Given the description of an element on the screen output the (x, y) to click on. 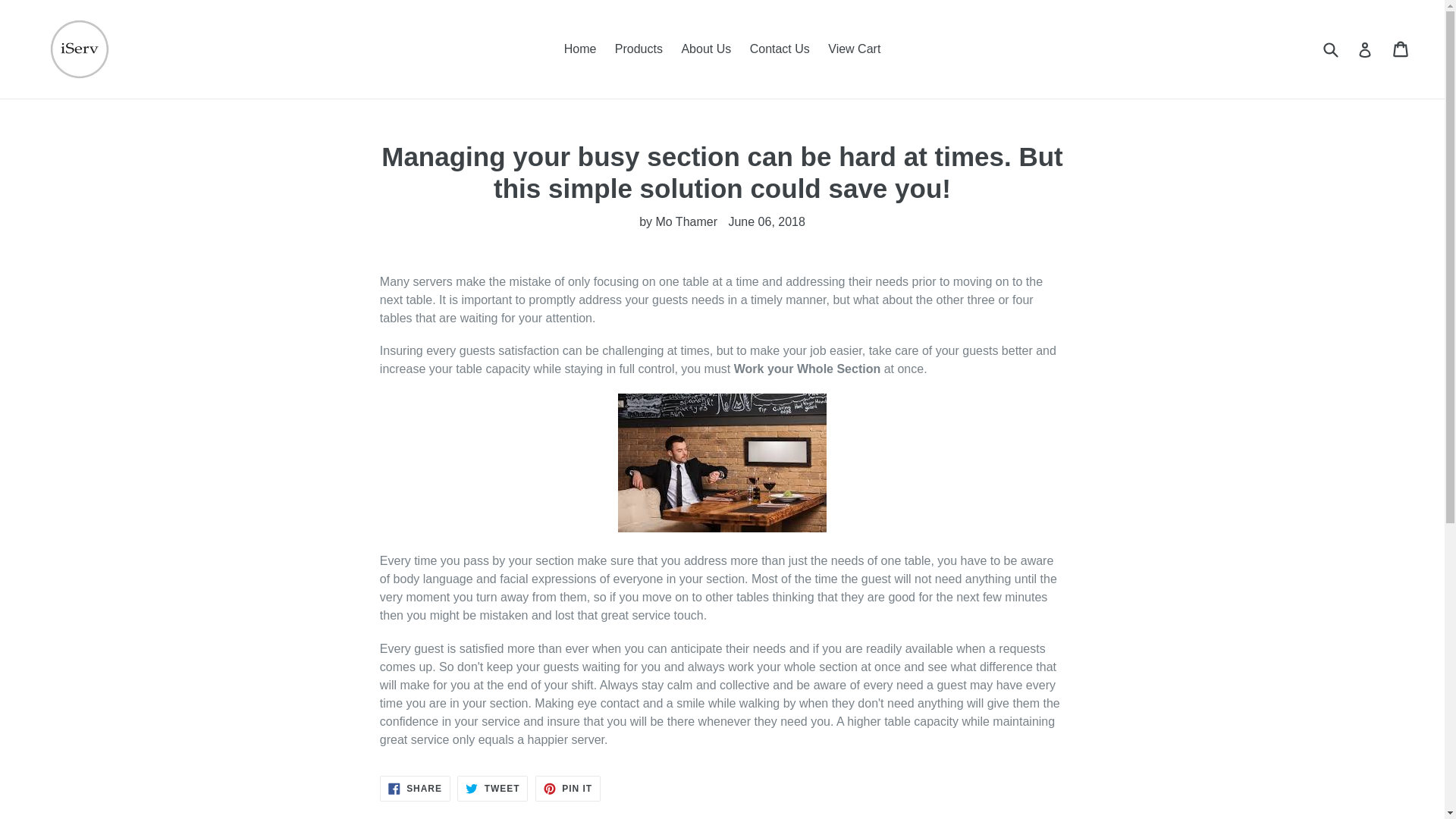
About Us (705, 48)
Tweet on Twitter (492, 788)
Products (638, 48)
Pin on Pinterest (567, 788)
Share on Facebook (567, 788)
View Cart (492, 788)
Contact Us (414, 788)
